Given the description of an element on the screen output the (x, y) to click on. 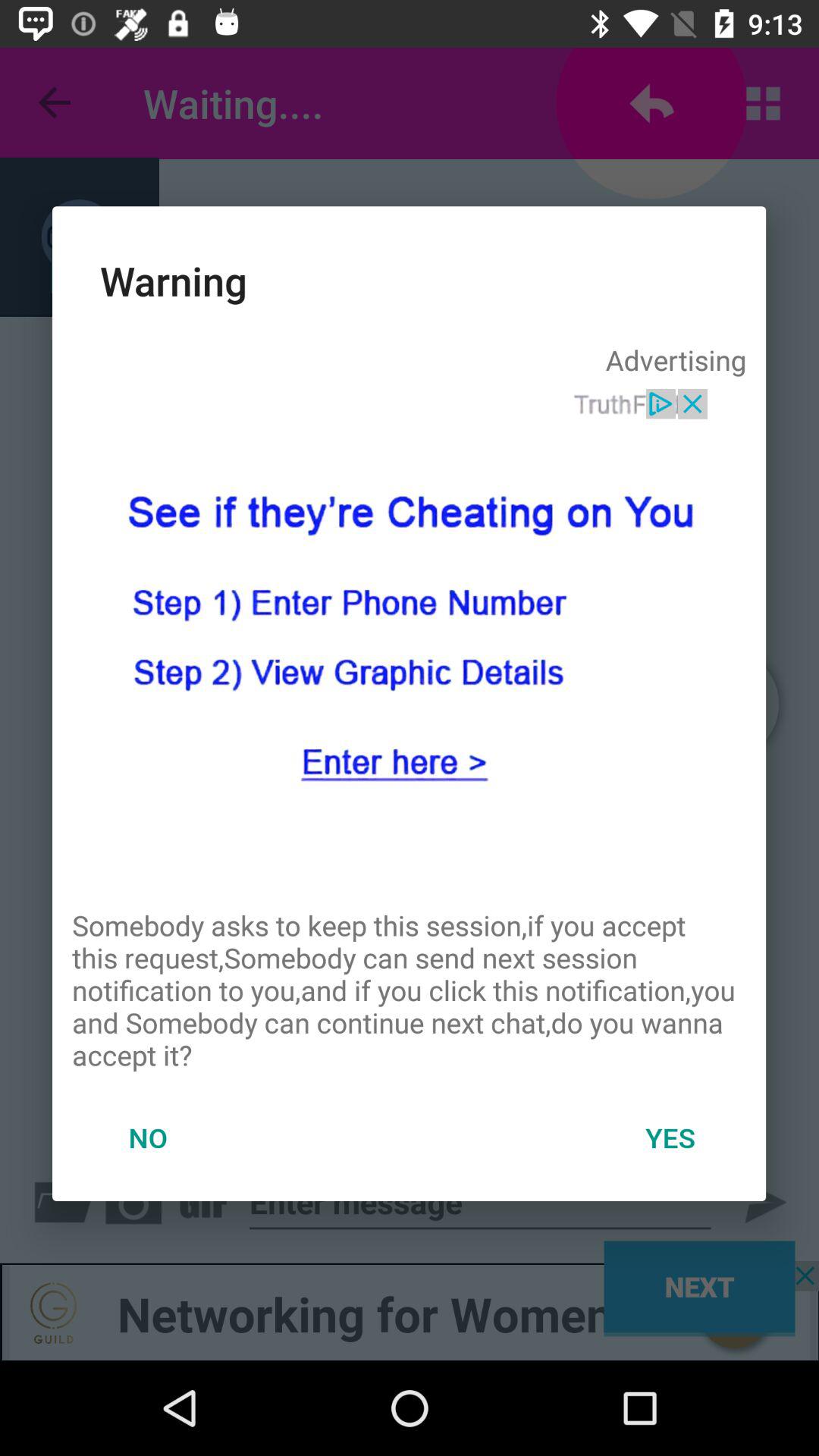
click advertisement (408, 637)
